Given the description of an element on the screen output the (x, y) to click on. 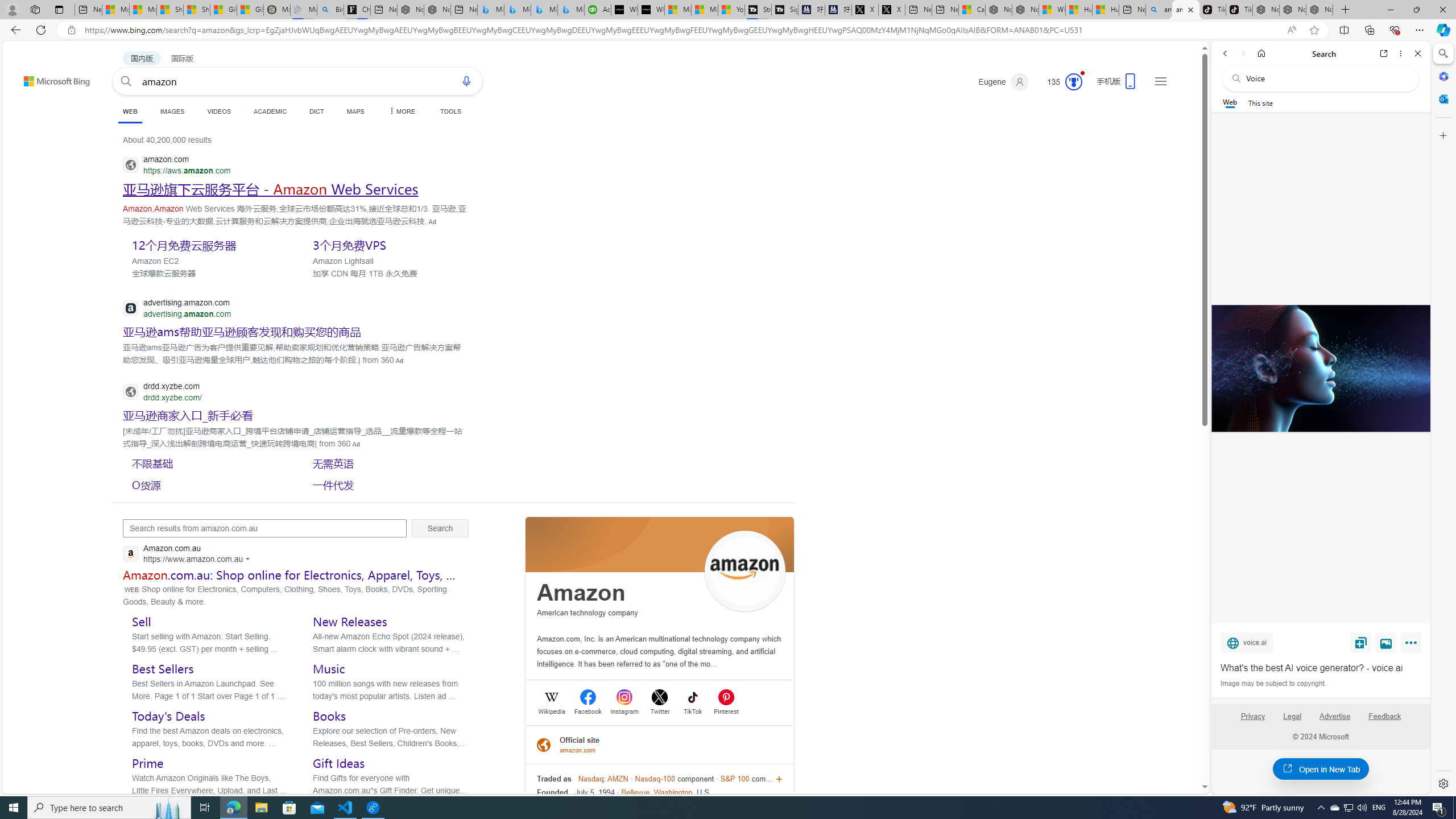
SERP,5551 (388, 245)
Global web icon (130, 553)
Actions for this site (249, 559)
Chloe Sorvino (357, 9)
Amazon.com.au (189, 554)
More (1413, 644)
Class: sp-ofsite (543, 744)
Open in New Tab (1321, 768)
DICT (316, 111)
Advertise (1335, 715)
Best Sellers (162, 668)
